Given the description of an element on the screen output the (x, y) to click on. 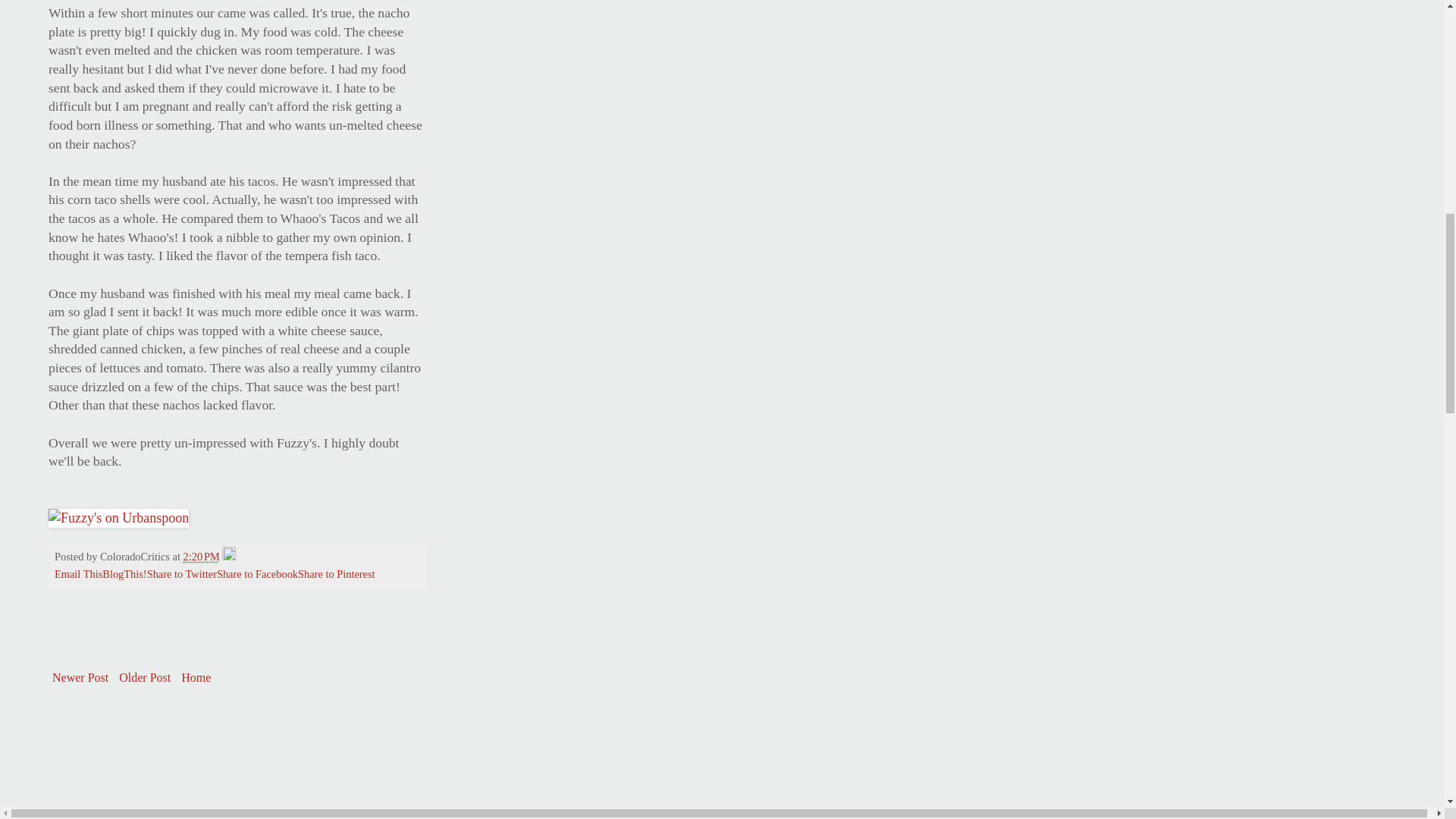
BlogThis! (124, 573)
Share to Pinterest (336, 573)
Advertisement (225, 644)
Older Post (144, 677)
Share to Twitter (181, 573)
Older Post (144, 677)
Share to Facebook (257, 573)
Advertisement (157, 751)
Email This (78, 573)
Share to Pinterest (336, 573)
Edit Post (228, 556)
Home (195, 677)
permanent link (201, 556)
Newer Post (80, 677)
Share to Facebook (257, 573)
